Given the description of an element on the screen output the (x, y) to click on. 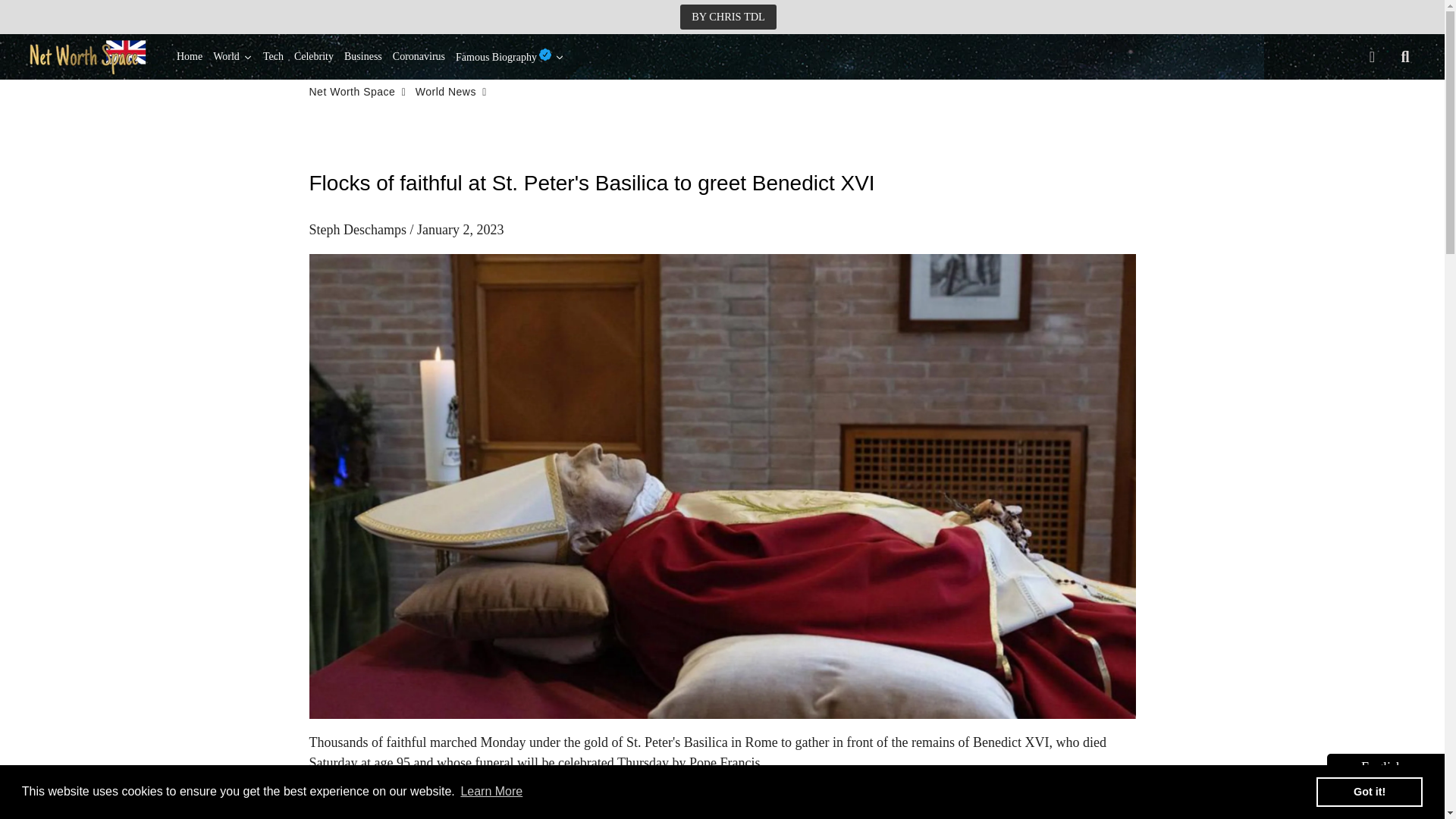
Famous Biography (509, 56)
Net Worth Space (352, 91)
World News (445, 91)
Tech (272, 56)
Celebrity (313, 56)
Business (363, 56)
Home (189, 56)
Home (189, 56)
Log In (1372, 56)
World (232, 56)
Tech (272, 56)
Learn More (491, 791)
Coronavirus (418, 56)
Got it! (1369, 791)
Coronavirus (418, 56)
